Given the description of an element on the screen output the (x, y) to click on. 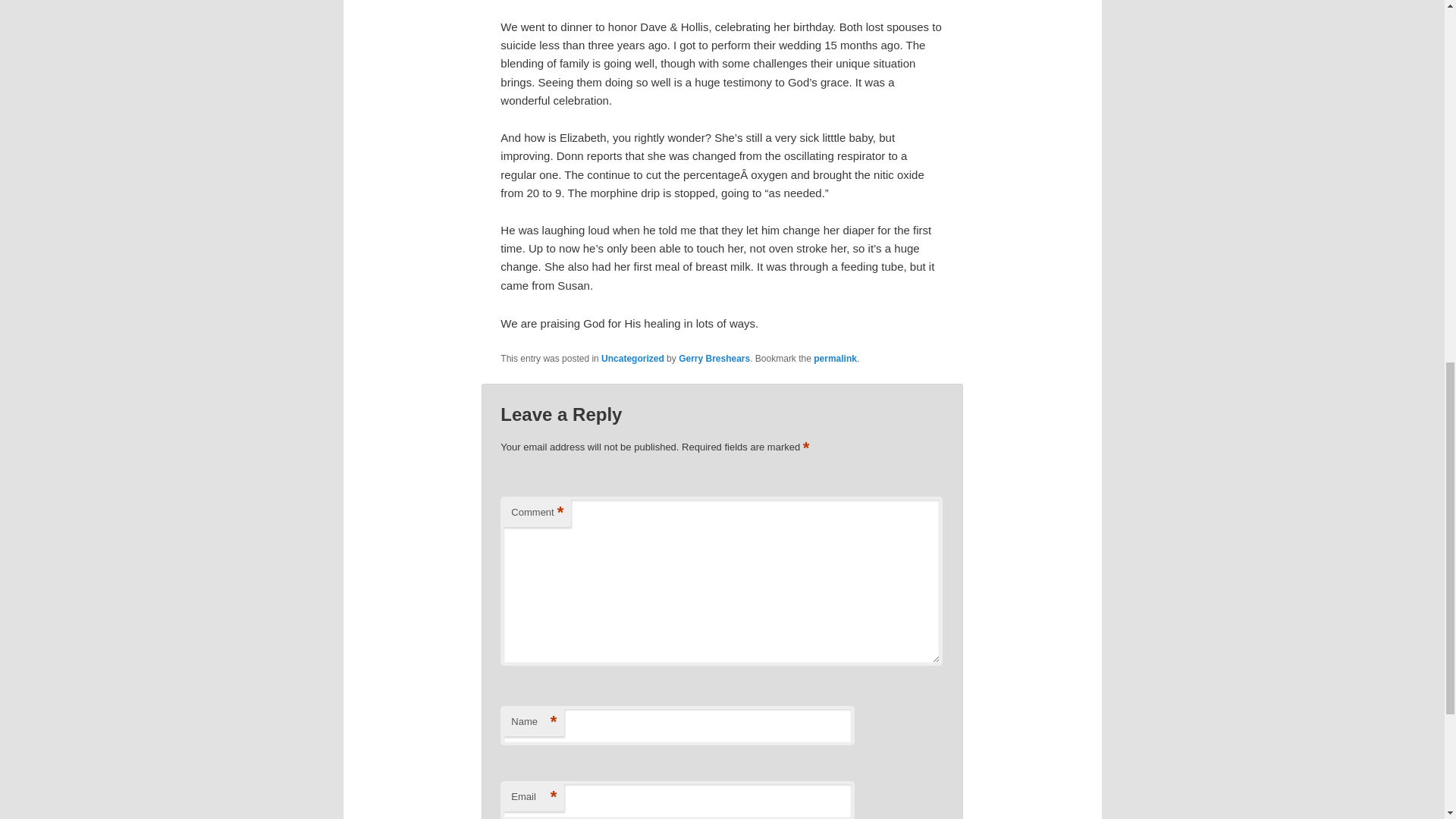
Gerry Breshears (713, 357)
permalink (835, 357)
Uncategorized (632, 357)
Permalink to Saturday and Grandgirls (835, 357)
